Given the description of an element on the screen output the (x, y) to click on. 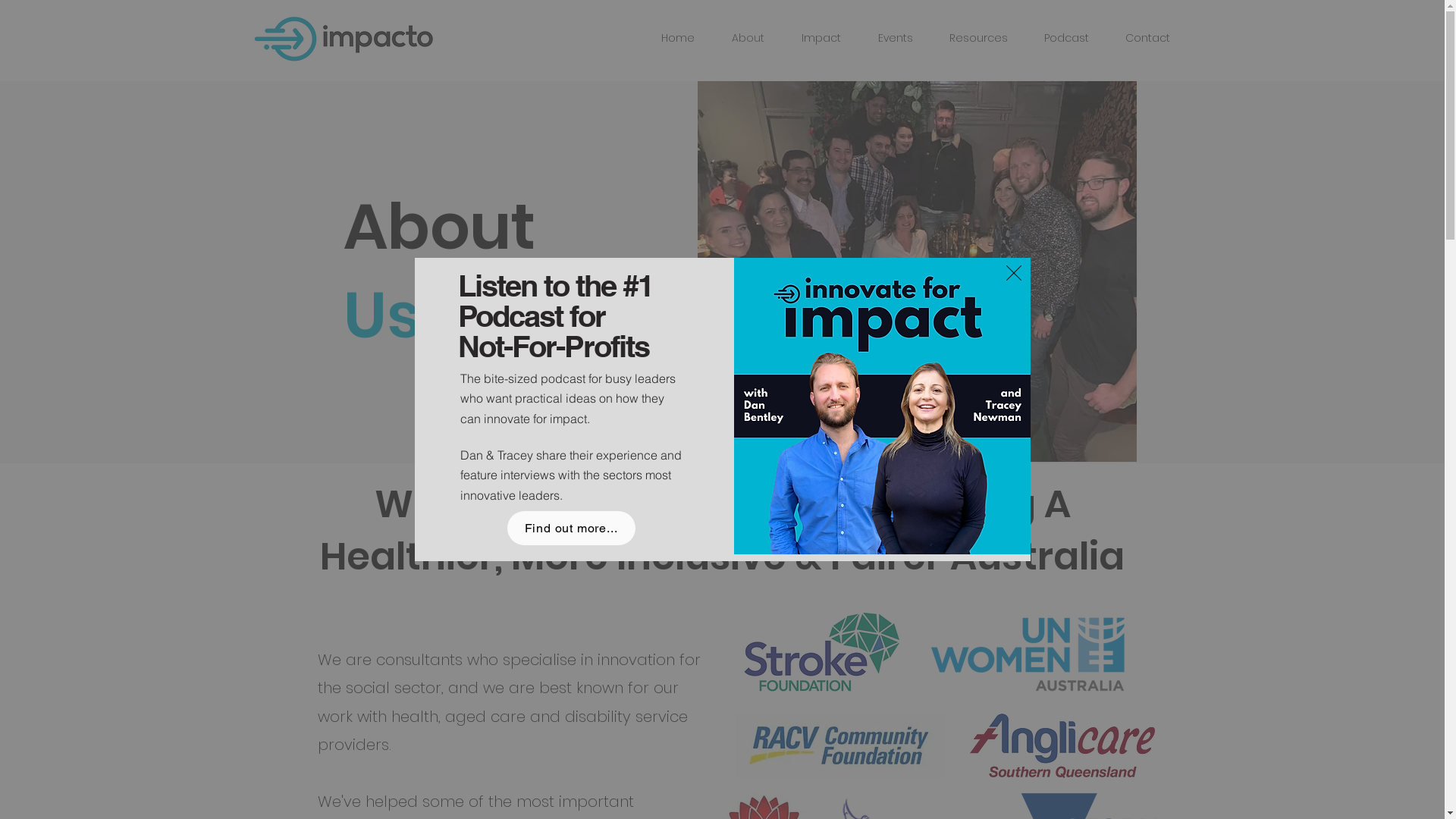
Impact Element type: text (809, 37)
Podcast Element type: text (1054, 37)
Find out more... Element type: text (570, 528)
Home Element type: text (665, 37)
Events Element type: text (883, 37)
Back to site Element type: hover (1012, 272)
About Element type: text (736, 37)
Resources Element type: text (967, 37)
Contact Element type: text (1136, 37)
